Given the description of an element on the screen output the (x, y) to click on. 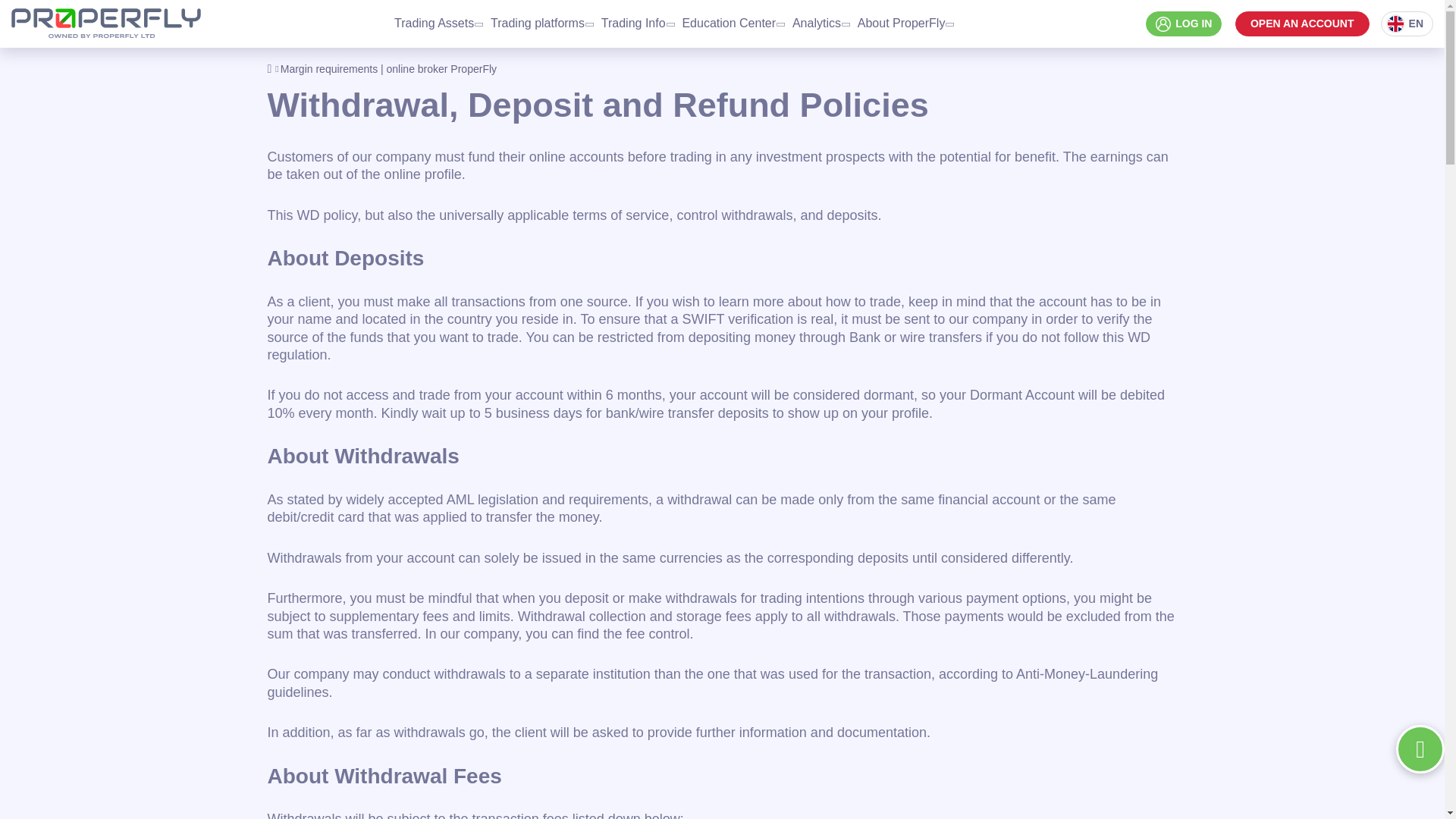
Trading Info (637, 23)
Analytics (820, 23)
Education Center (732, 23)
Trading Assets (438, 23)
Trading platforms (541, 23)
